Given the description of an element on the screen output the (x, y) to click on. 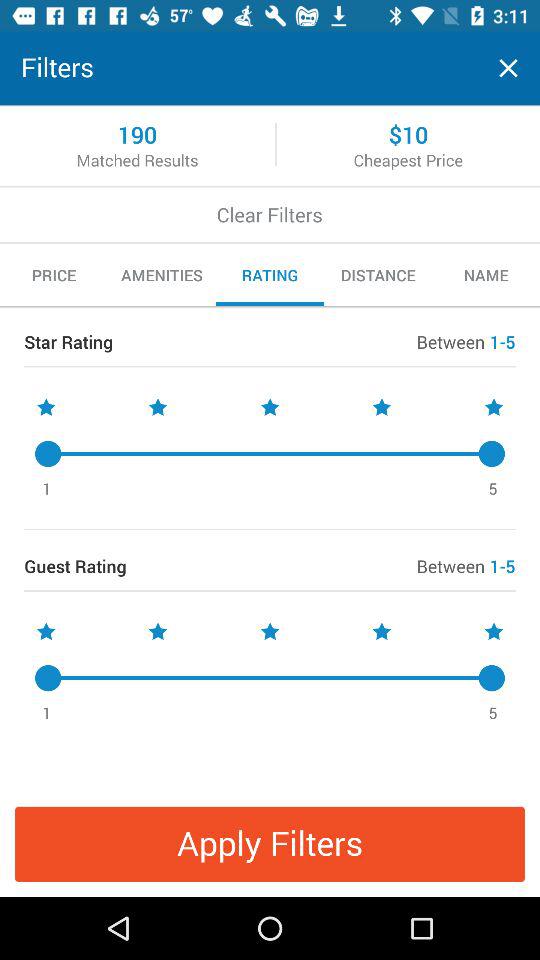
close window (508, 67)
